Given the description of an element on the screen output the (x, y) to click on. 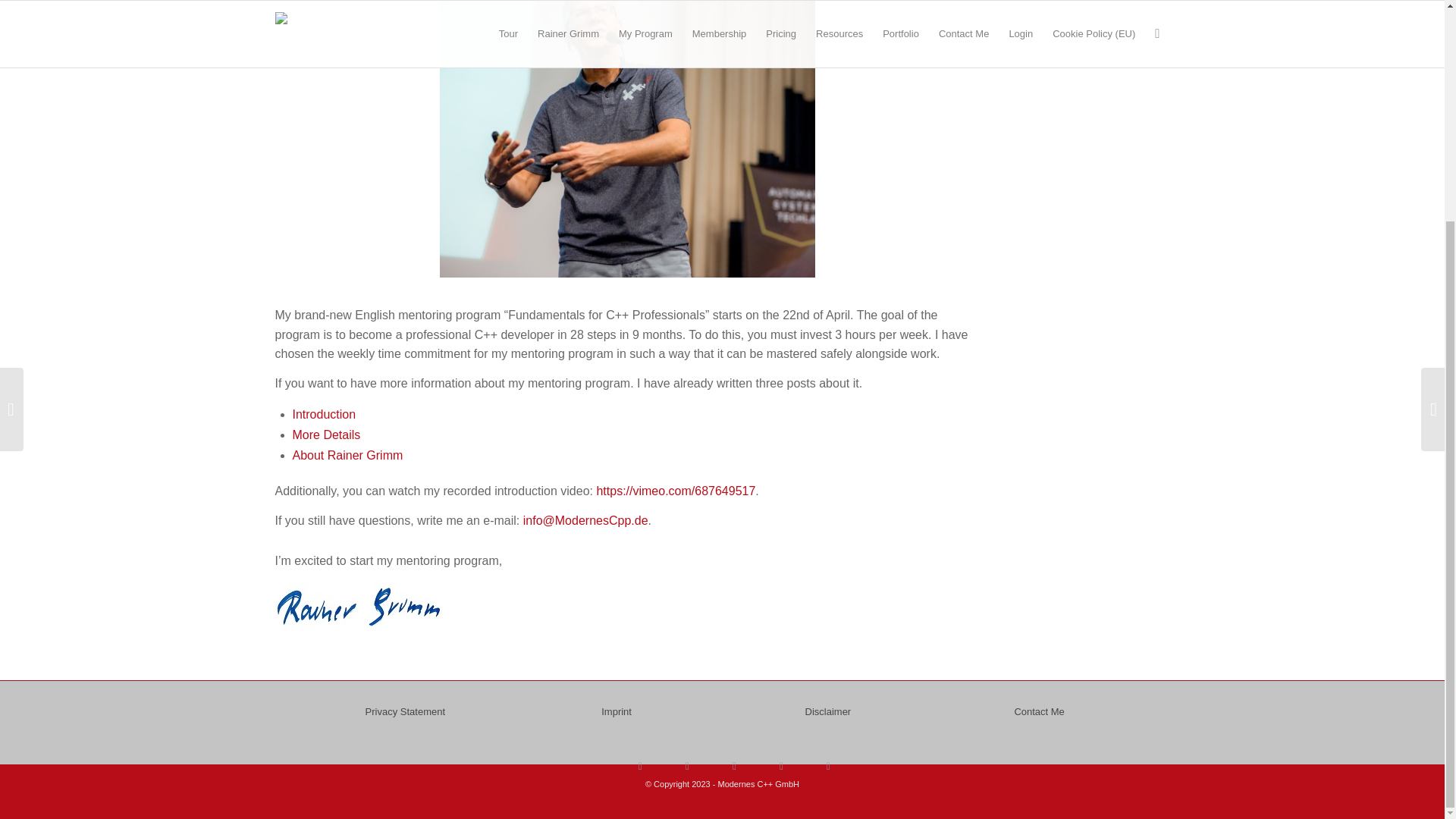
Facebook (687, 765)
Vimeo (781, 765)
Xing (828, 765)
LinkedIn (734, 765)
X (640, 765)
